Given the description of an element on the screen output the (x, y) to click on. 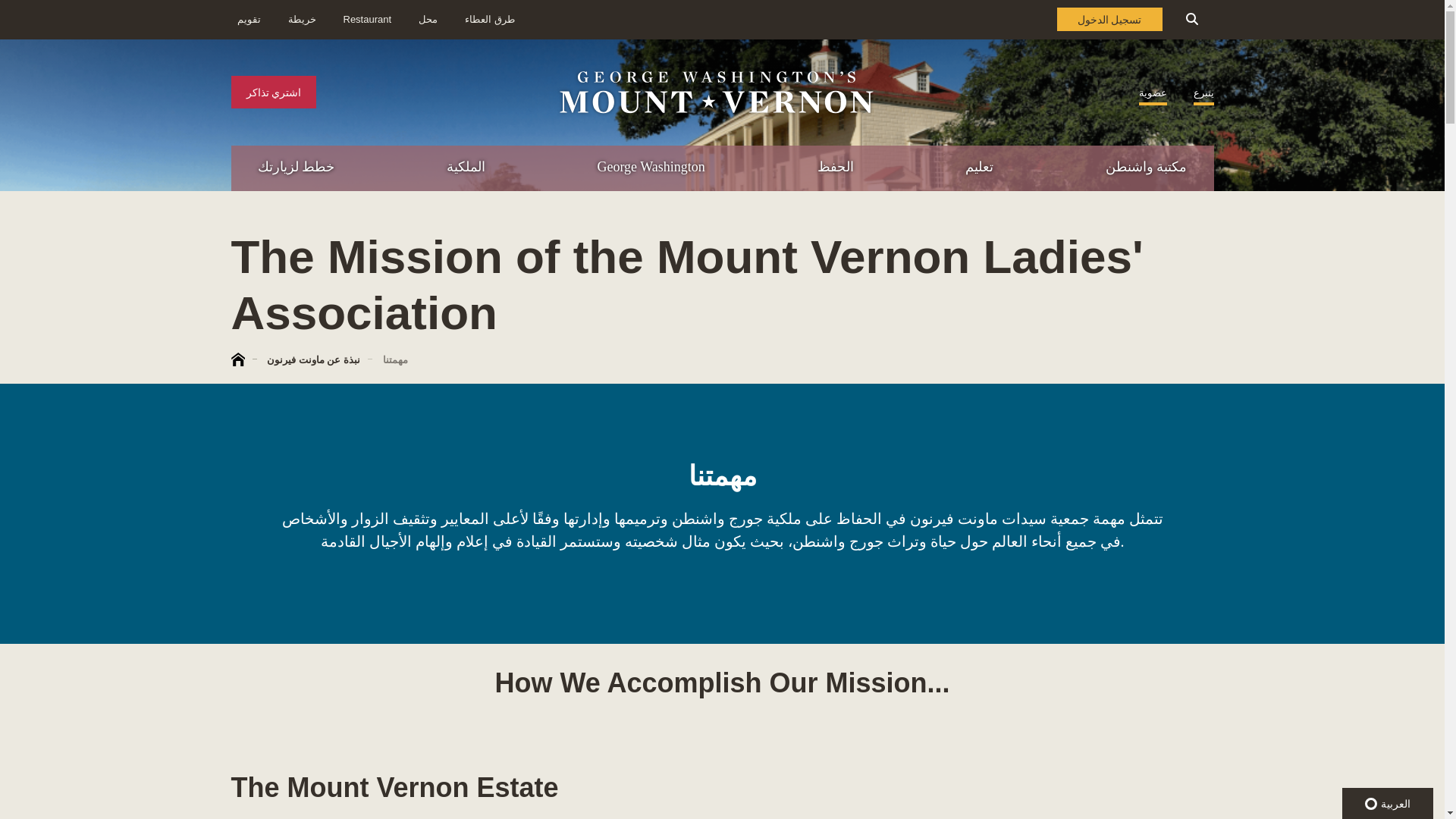
Restaurant (366, 19)
SUPPORT (1283, 263)
RESTAURANT (1377, 232)
Restaurant (428, 19)
